Given the description of an element on the screen output the (x, y) to click on. 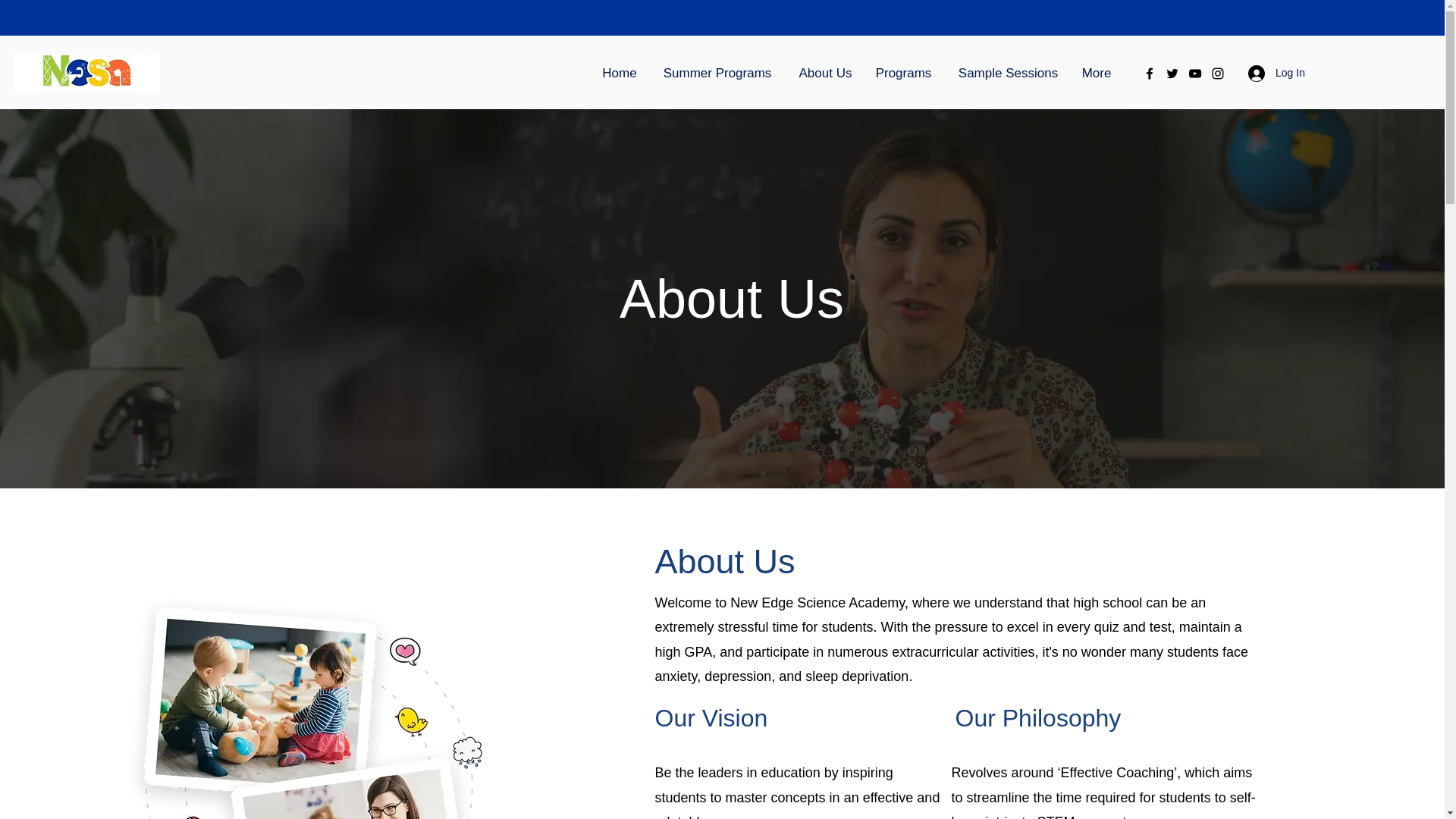
Log In (1269, 72)
Home (619, 73)
Sample Sessions (1007, 73)
image-left-home.webp (308, 704)
Summer Programs (716, 73)
Programs (903, 73)
About Us (825, 73)
